Given the description of an element on the screen output the (x, y) to click on. 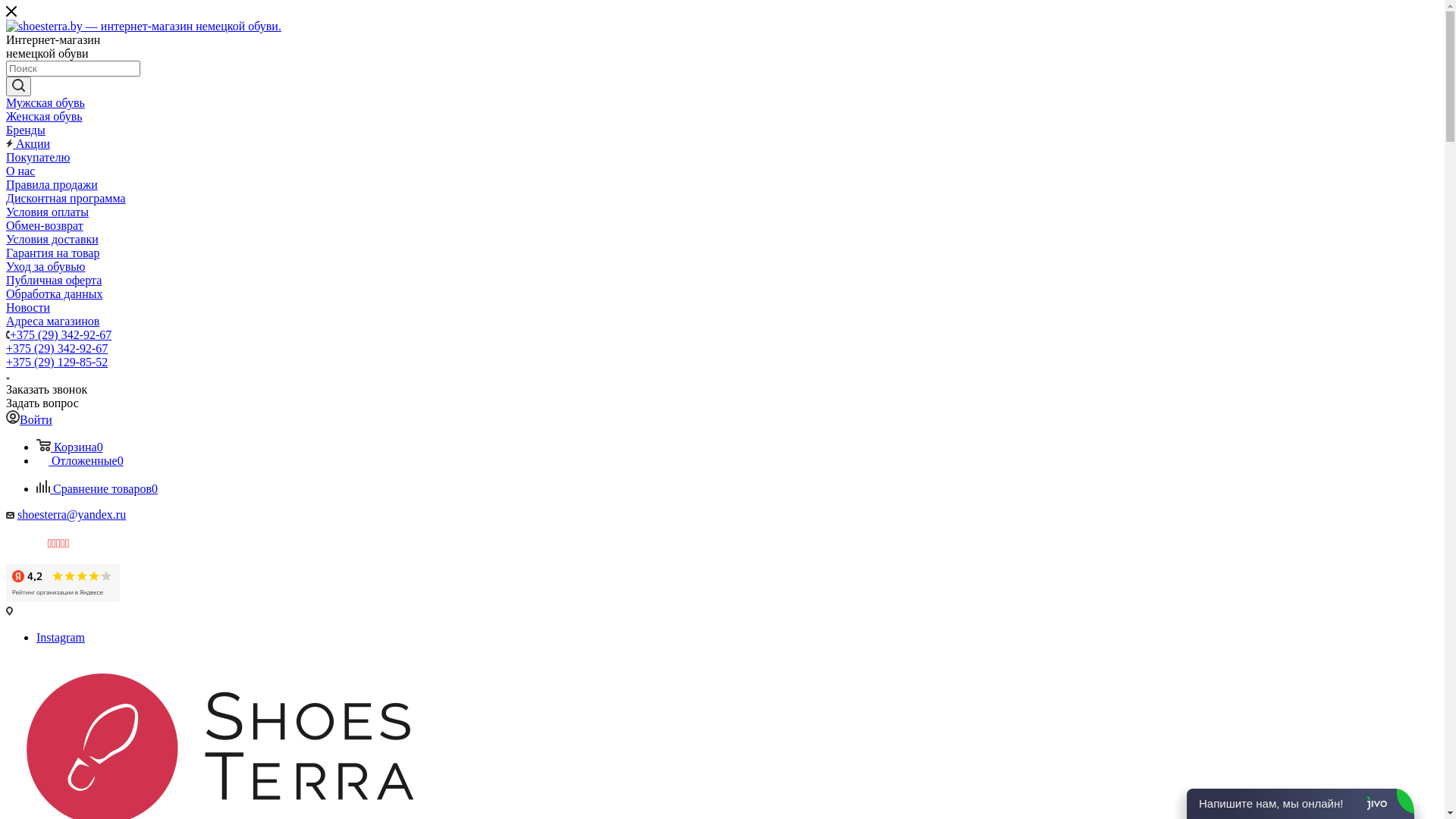
Instagram Element type: text (60, 636)
+375 (29) 342-92-67 Element type: text (60, 334)
+375 (29) 129-85-52 Element type: text (56, 361)
+375 (29) 342-92-67 Element type: text (56, 348)
shoesterra@yandex.ru Element type: text (71, 514)
